Given the description of an element on the screen output the (x, y) to click on. 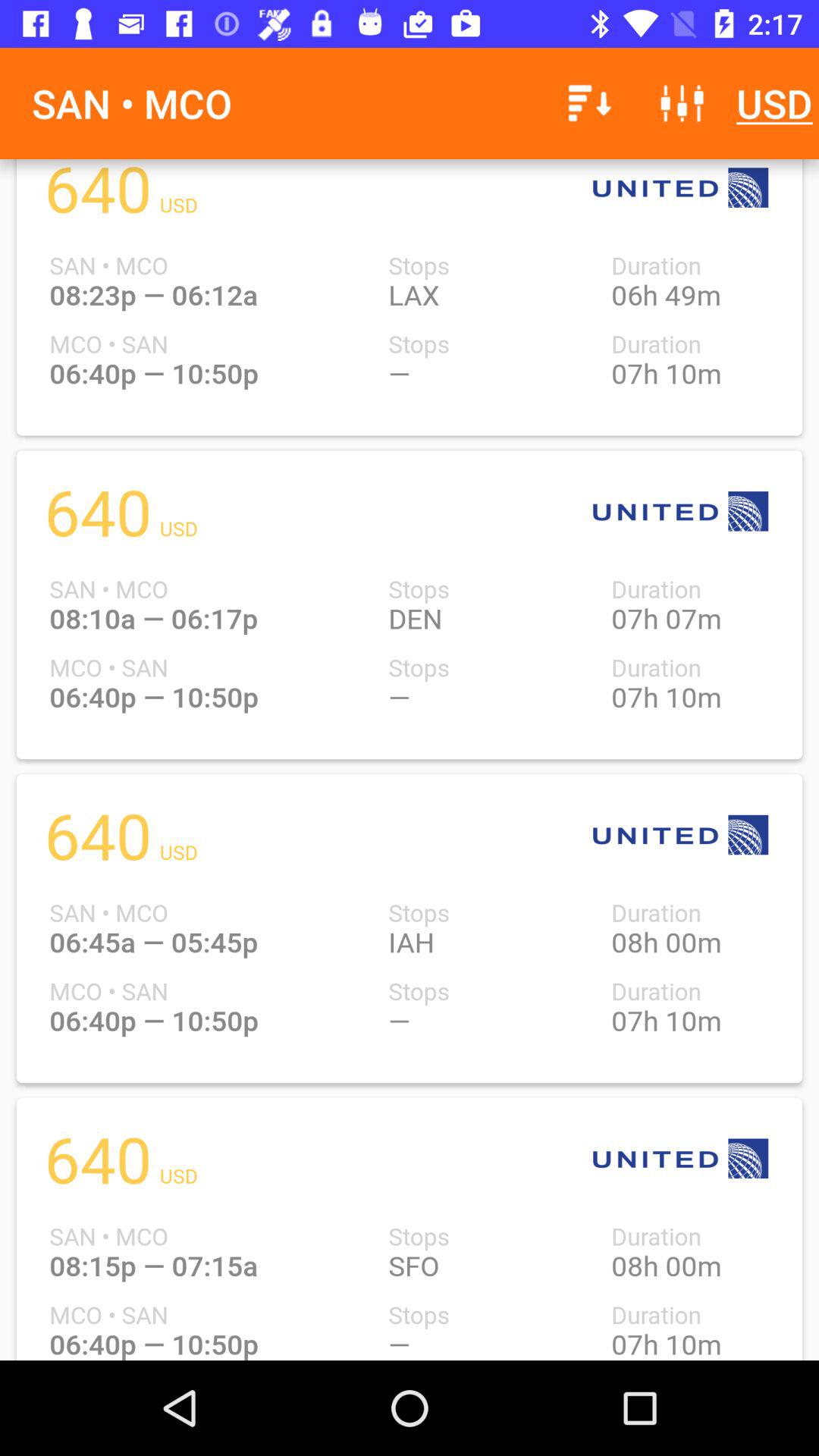
select icon next to the usd item (682, 103)
